Given the description of an element on the screen output the (x, y) to click on. 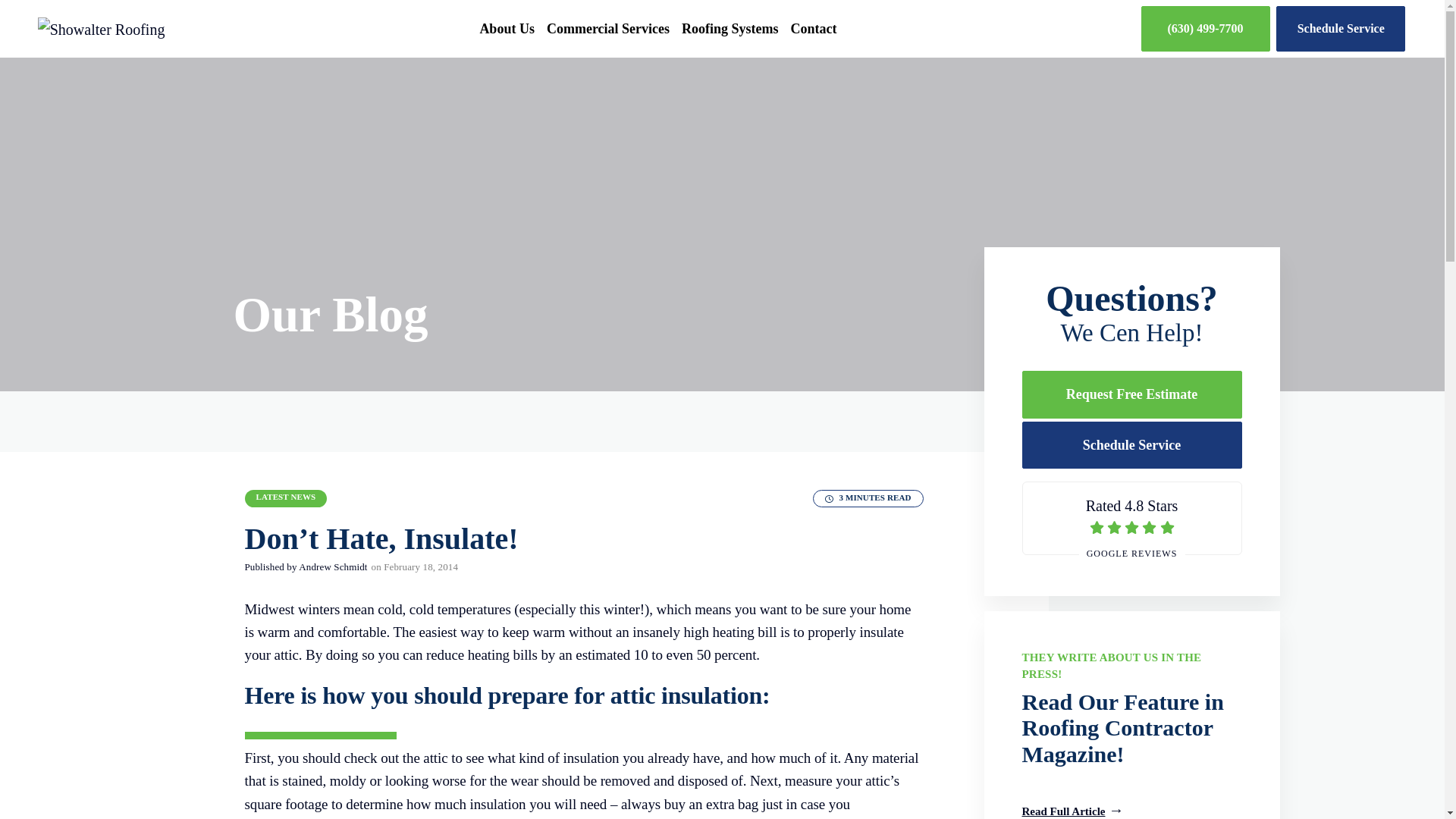
LATEST NEWS (285, 496)
Commercial Services (1131, 517)
Schedule Service (607, 28)
Skip to content (1340, 28)
Showalter Roofing (729, 28)
About Us (101, 27)
About Showalter Roofing (506, 28)
Commercial Roofing Company Chicago, IL (506, 28)
